Given the description of an element on the screen output the (x, y) to click on. 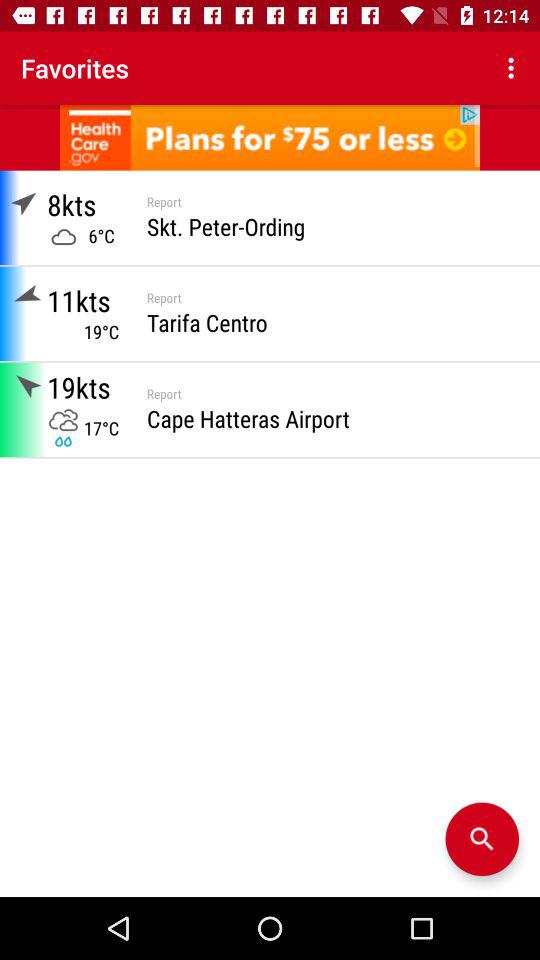
go to search option (482, 839)
